Given the description of an element on the screen output the (x, y) to click on. 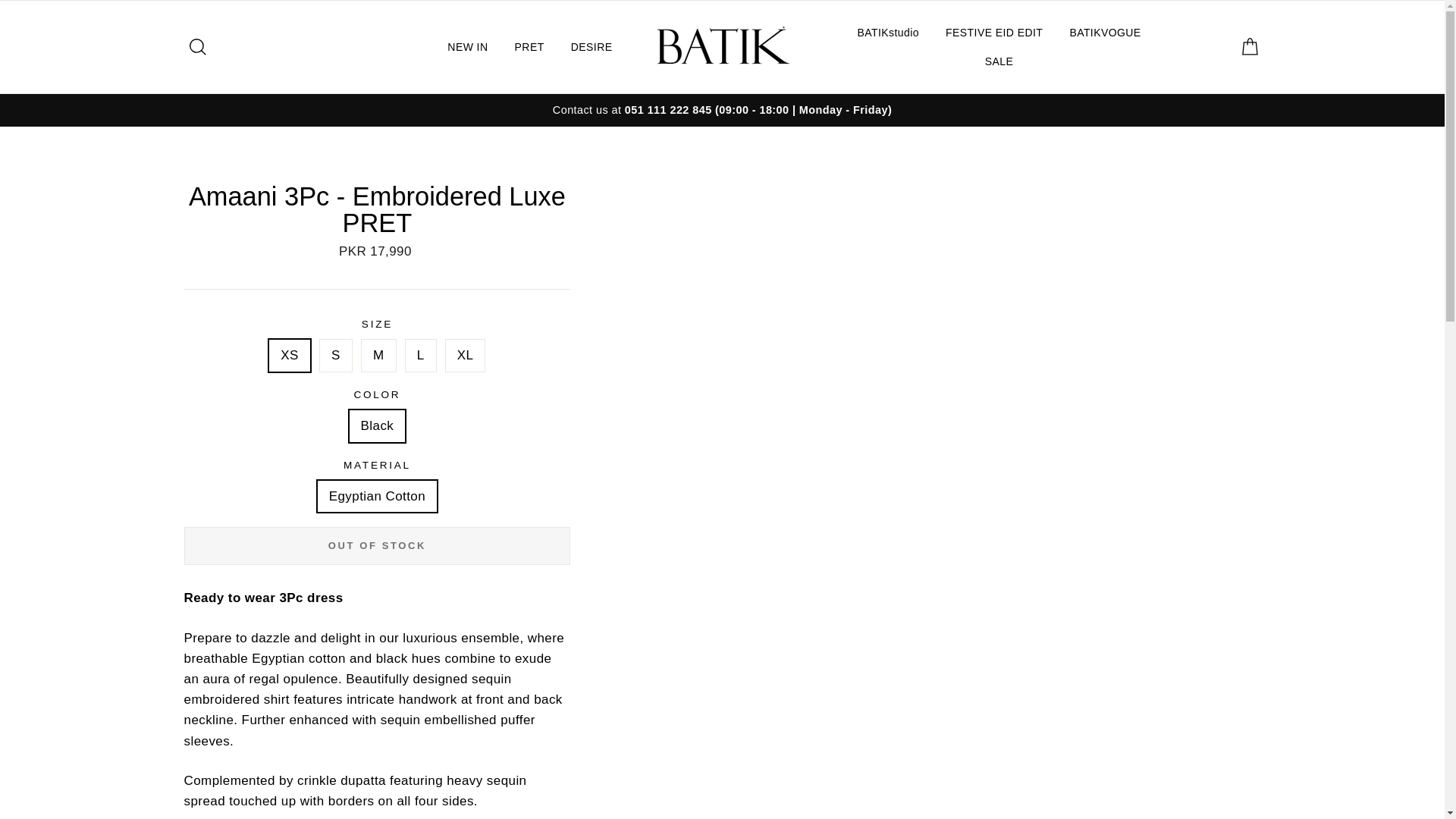
Search (191, 47)
NEW IN (467, 46)
